Given the description of an element on the screen output the (x, y) to click on. 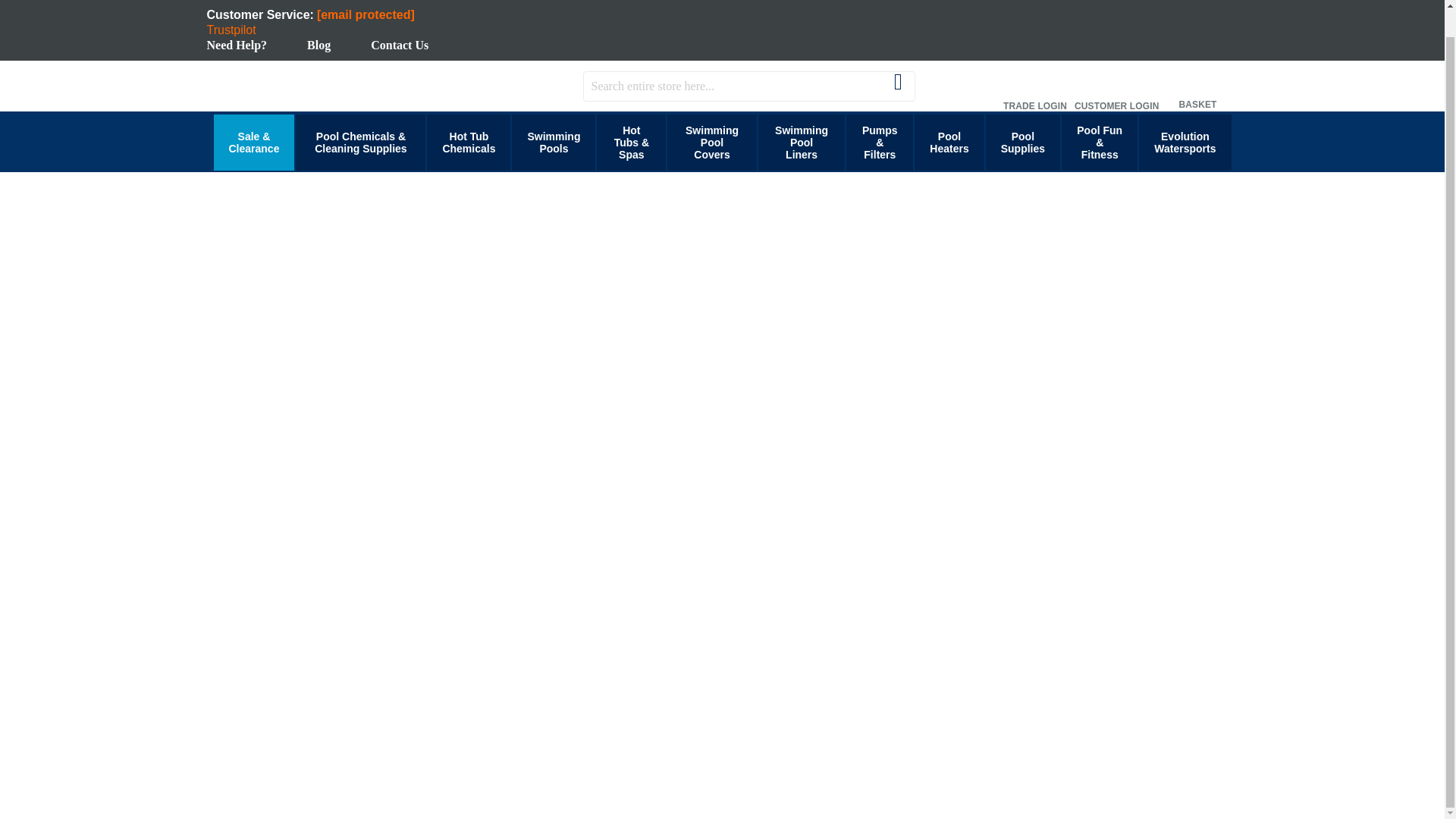
Blog (318, 44)
BASKET (1197, 84)
Need Help? (236, 44)
CUSTOMER LOGIN (1116, 85)
TRADE LOGIN (1034, 85)
Contact Us (399, 44)
Trustpilot (231, 29)
